Given the description of an element on the screen output the (x, y) to click on. 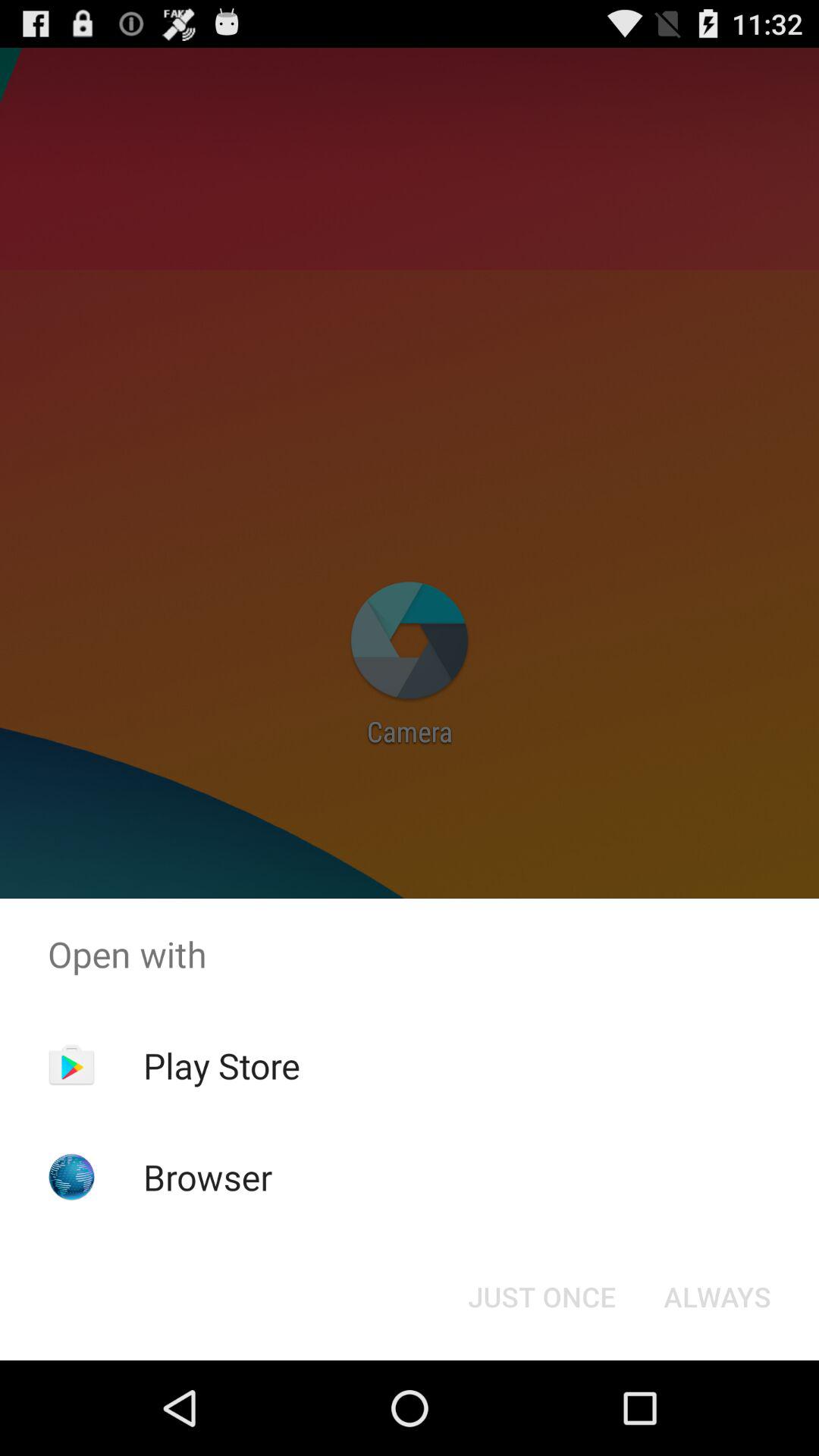
tap icon to the left of the always button (541, 1296)
